Given the description of an element on the screen output the (x, y) to click on. 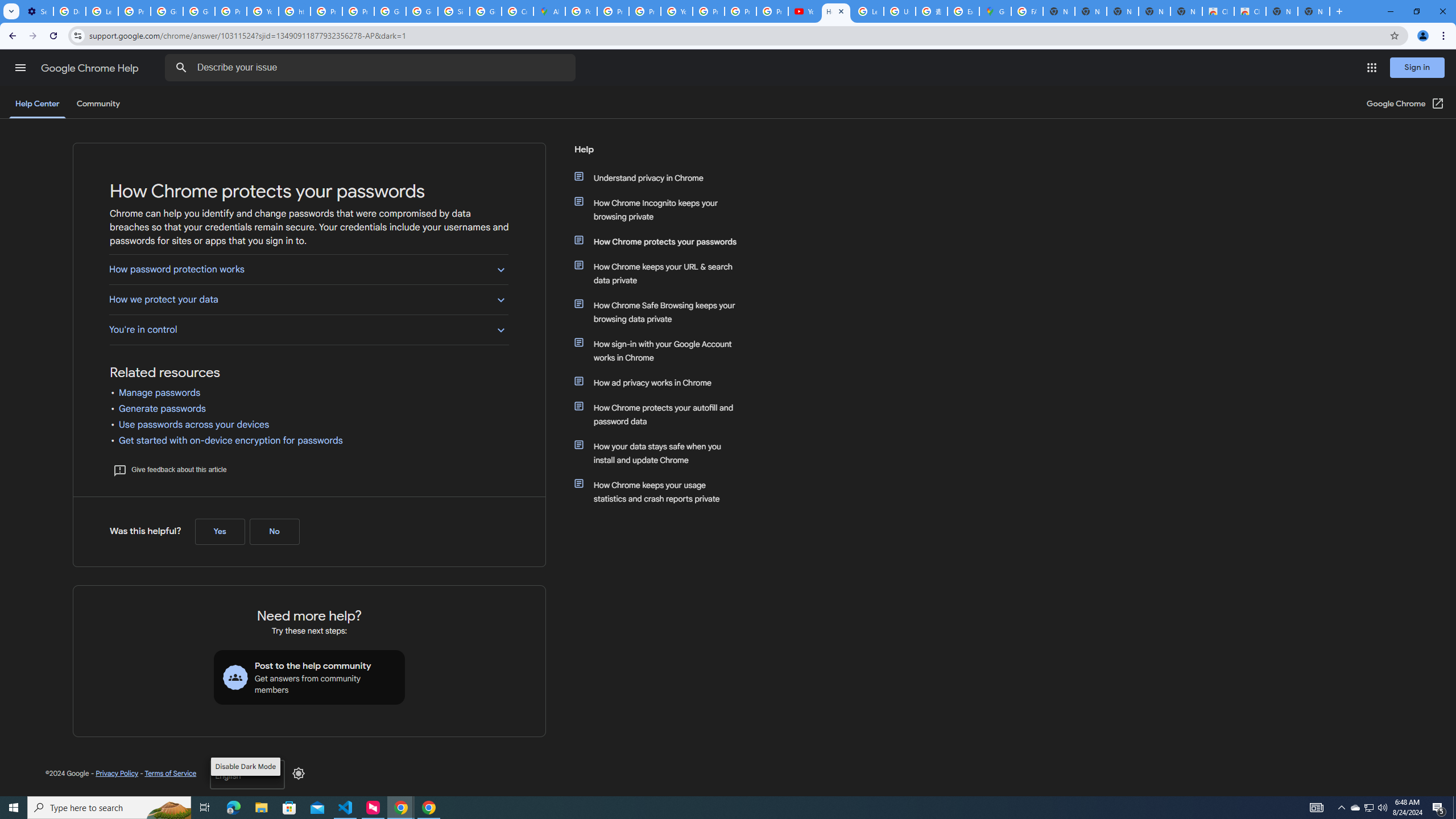
YouTube (676, 11)
Main menu (20, 67)
Google Chrome Help (90, 68)
How Chrome protects your autofill and password data (661, 414)
How password protection works (308, 268)
Create your Google Account (517, 11)
How ad privacy works in Chrome (661, 382)
Sign in - Google Accounts (453, 11)
Privacy Help Center - Policies Help (644, 11)
Help Center (36, 103)
